Given the description of an element on the screen output the (x, y) to click on. 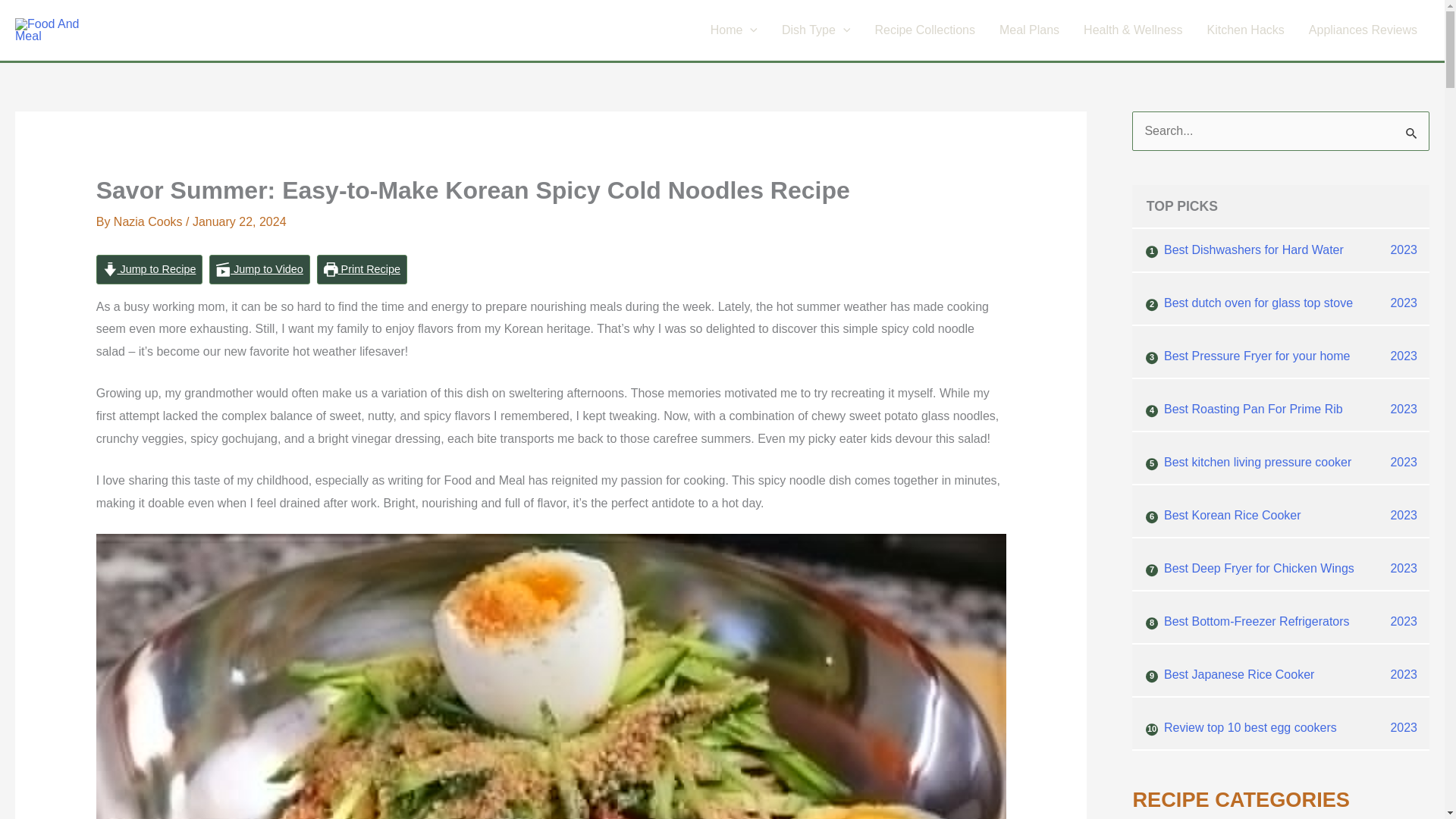
View all posts by Nazia Cooks (149, 221)
Recipe Collections (924, 30)
Dish Type (815, 30)
Kitchen Hacks (1246, 30)
Home (734, 30)
Appliances Reviews (1363, 30)
Meal Plans (1029, 30)
